Given the description of an element on the screen output the (x, y) to click on. 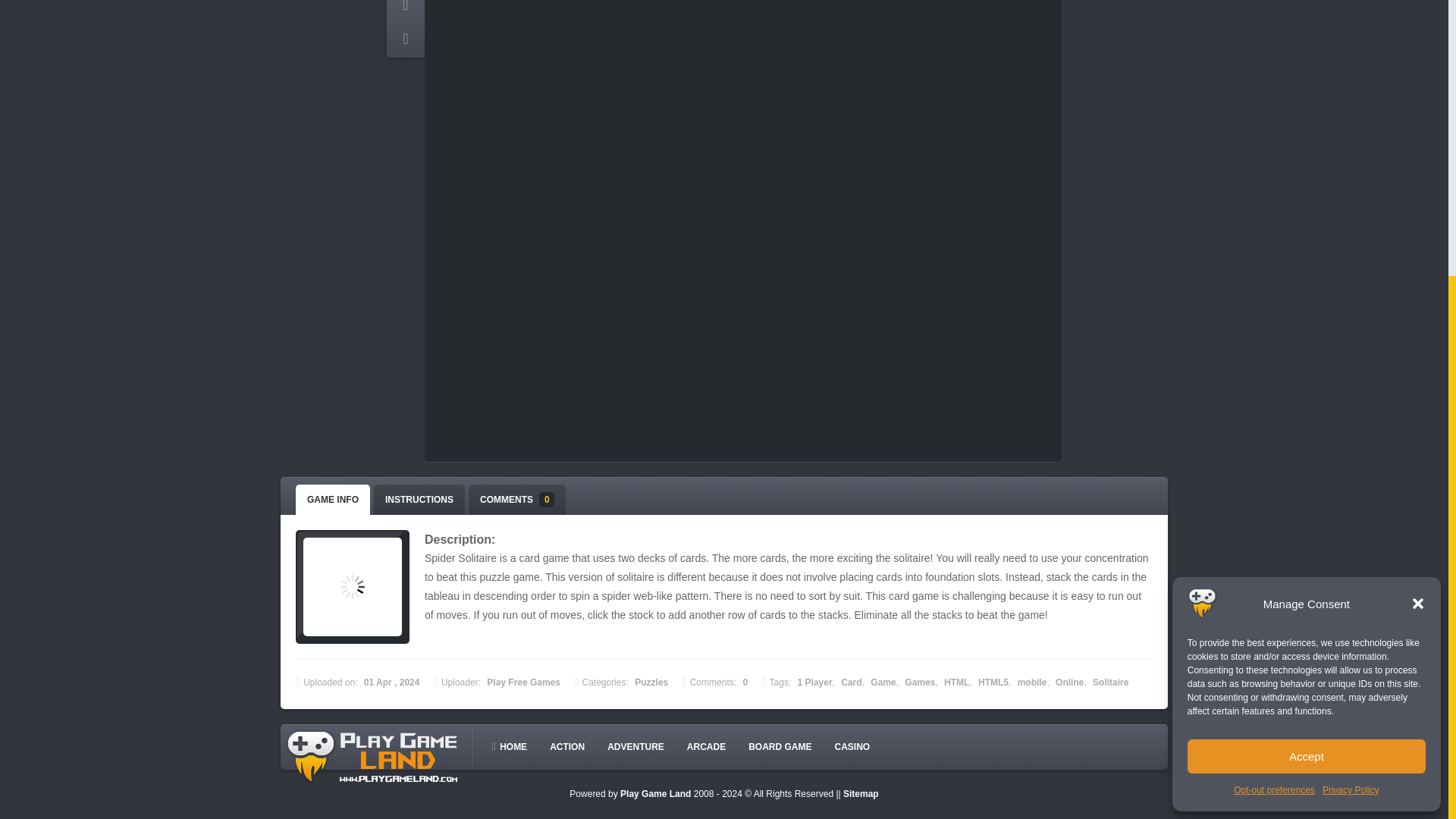
Accept (1306, 339)
Privacy Policy (1350, 373)
Opt-out preferences (1273, 373)
